Given the description of an element on the screen output the (x, y) to click on. 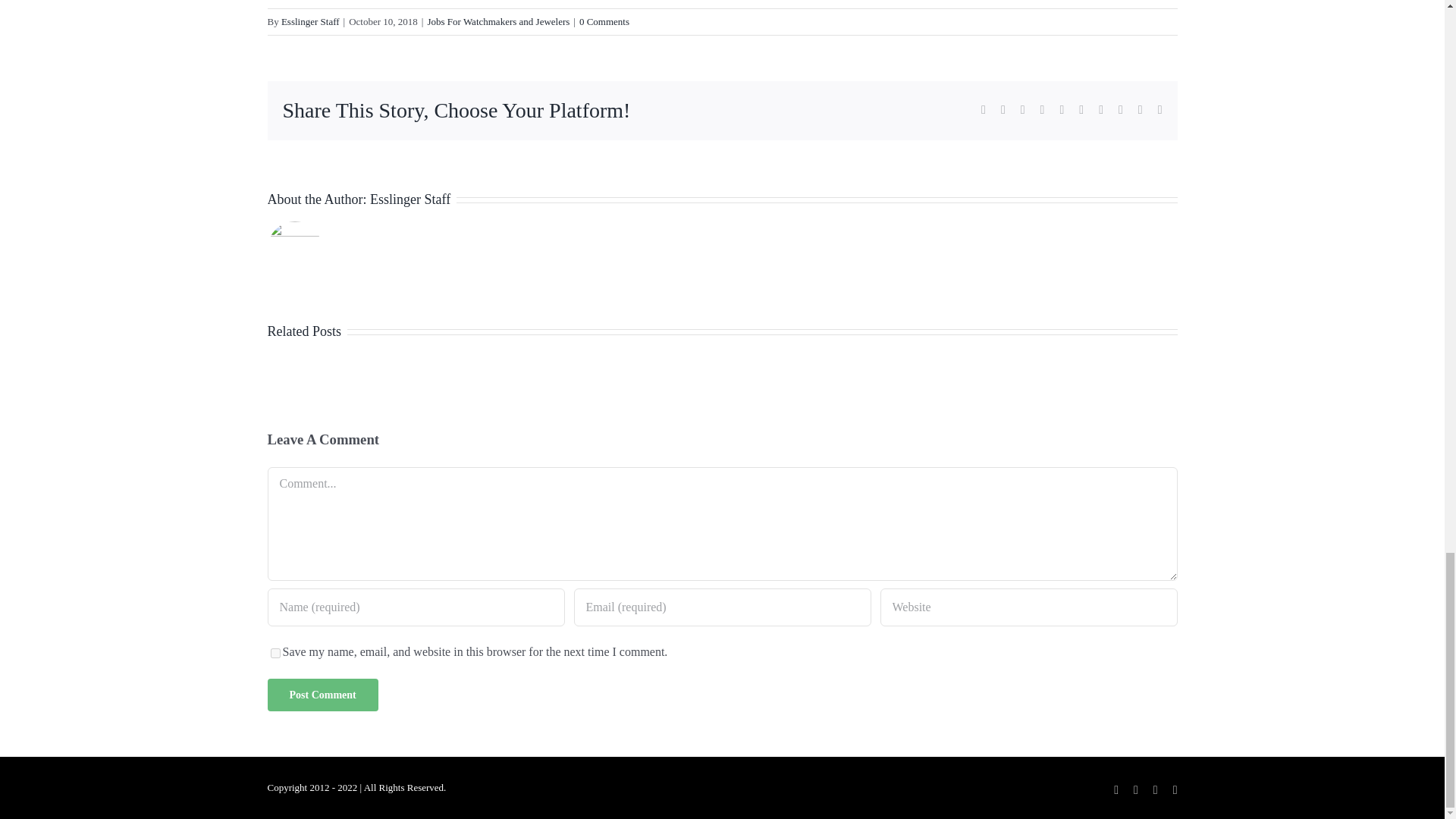
0 Comments (603, 21)
Jobs For Watchmakers and Jewelers (497, 21)
Esslinger Staff (310, 21)
Post Comment (321, 694)
Posts by Esslinger Staff (310, 21)
Posts by Esslinger Staff (409, 199)
yes (274, 653)
